Given the description of an element on the screen output the (x, y) to click on. 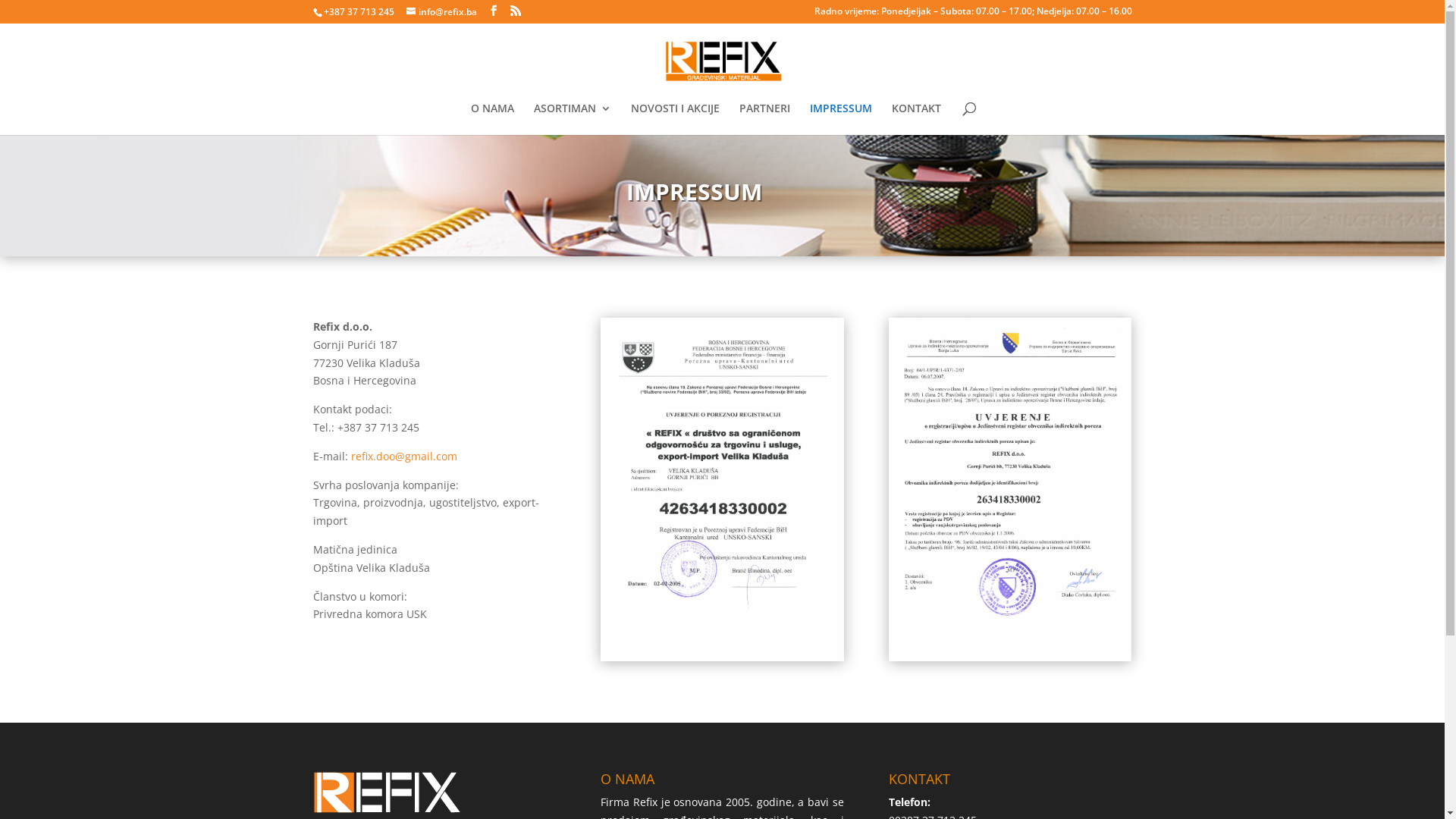
O NAMA Element type: text (491, 118)
IMPRESSUM Element type: text (840, 118)
NOVOSTI I AKCIJE Element type: text (674, 118)
info@refix.ba Element type: text (441, 11)
KONTAKT Element type: text (916, 118)
ASORTIMAN Element type: text (572, 118)
refix.doo@gmail.com Element type: text (403, 455)
PARTNERI Element type: text (763, 118)
